Given the description of an element on the screen output the (x, y) to click on. 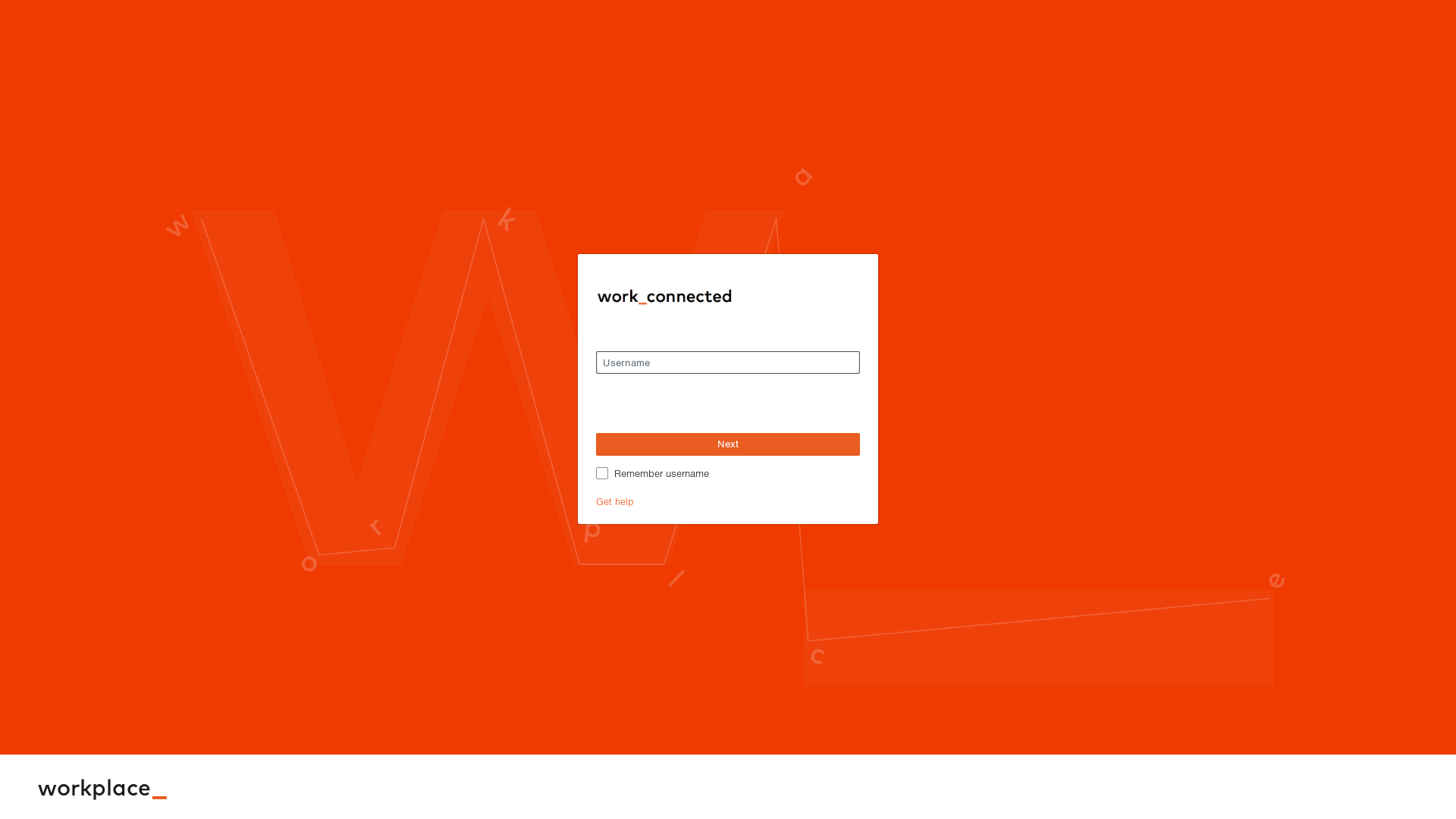
Next Element type: text (727, 444)
Get help Element type: text (614, 500)
